Given the description of an element on the screen output the (x, y) to click on. 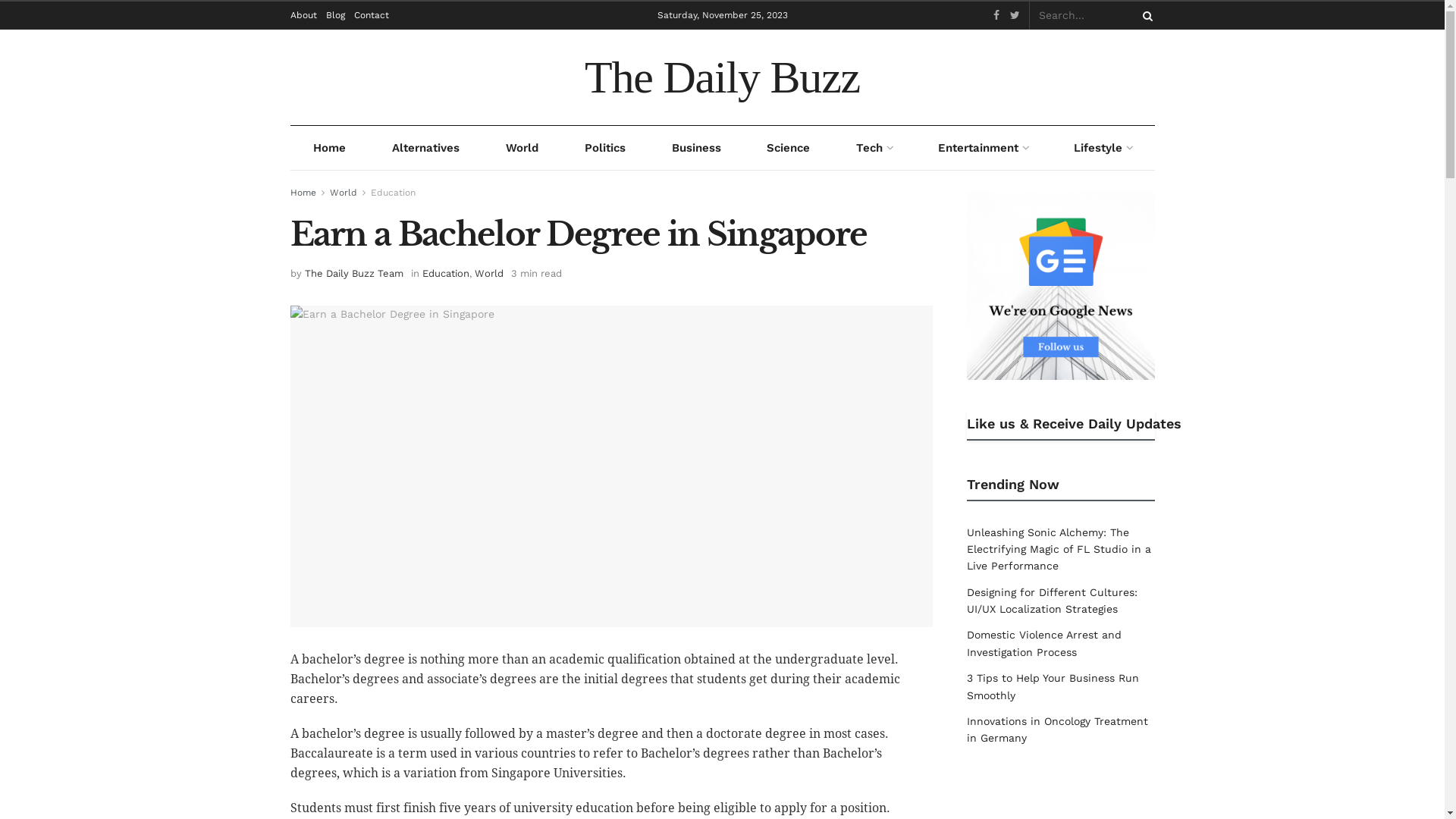
Science Element type: text (788, 147)
Business Element type: text (695, 147)
Home Element type: text (302, 192)
Tech Element type: text (874, 147)
Contact Element type: text (370, 15)
Home Element type: text (328, 147)
Entertainment Element type: text (983, 147)
3 Tips to Help Your Business Run Smoothly Element type: text (1052, 685)
Lifestyle Element type: text (1102, 147)
World Element type: text (521, 147)
Politics Element type: text (604, 147)
Innovations in Oncology Treatment in Germany Element type: text (1057, 729)
The Daily Buzz Team Element type: text (353, 273)
Domestic Violence Arrest and Investigation Process Element type: text (1043, 642)
The Daily Buzz Element type: text (721, 77)
Education Element type: text (444, 273)
Blog Element type: text (335, 15)
About Element type: text (302, 15)
Education Element type: text (392, 192)
World Element type: text (342, 192)
Alternatives Element type: text (425, 147)
World Element type: text (488, 273)
